Given the description of an element on the screen output the (x, y) to click on. 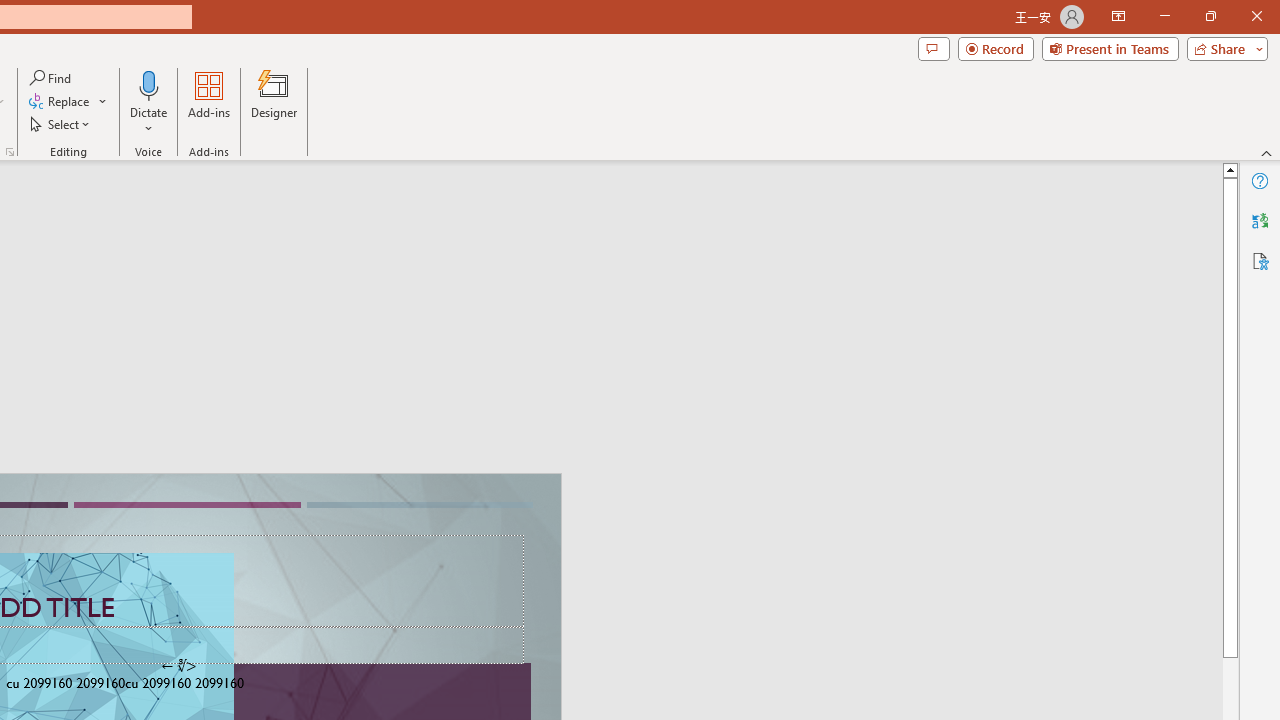
TextBox 7 (178, 666)
